Given the description of an element on the screen output the (x, y) to click on. 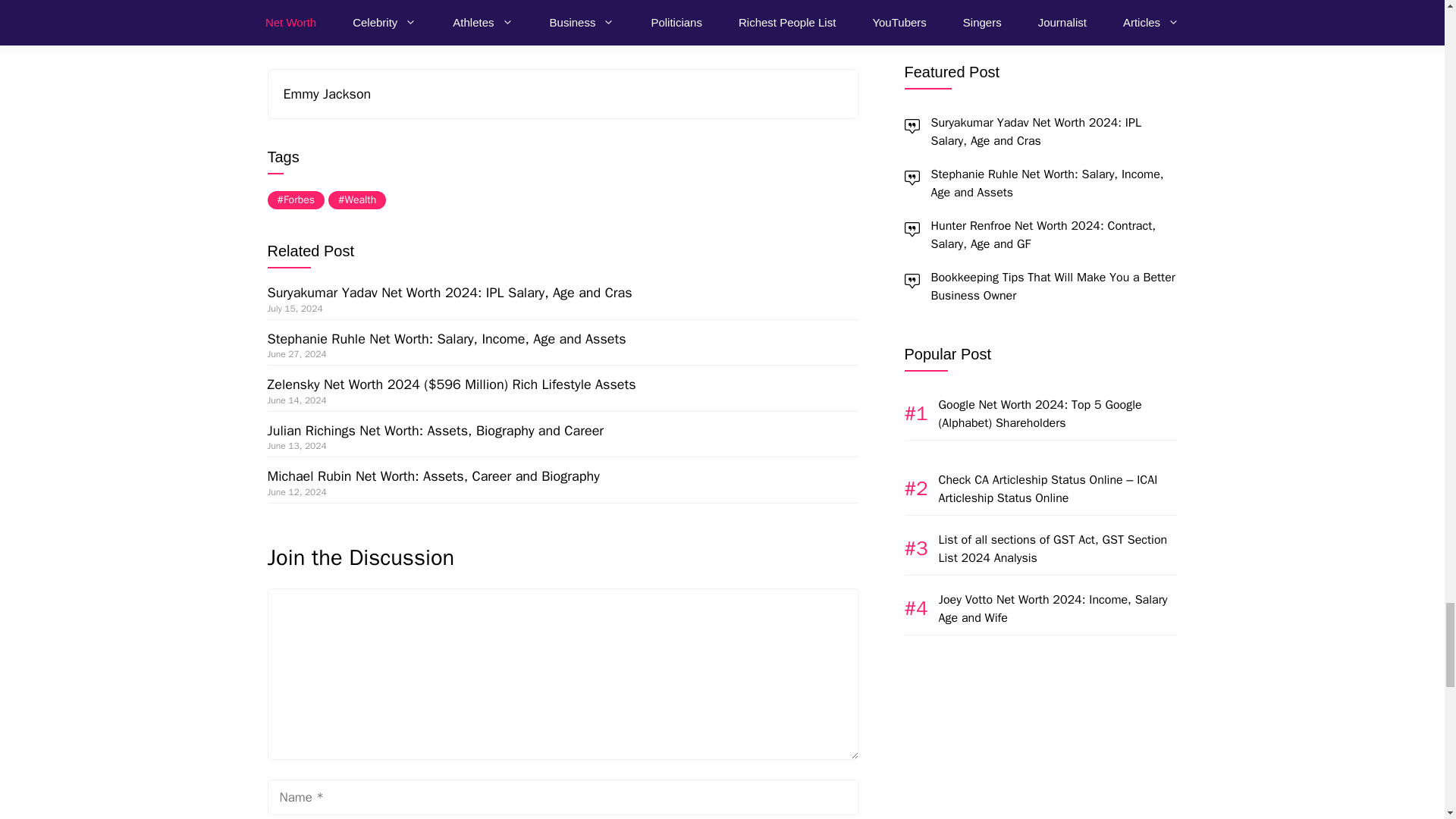
Twitter (312, 28)
Facebook (281, 28)
WhatsApp (342, 28)
